Given the description of an element on the screen output the (x, y) to click on. 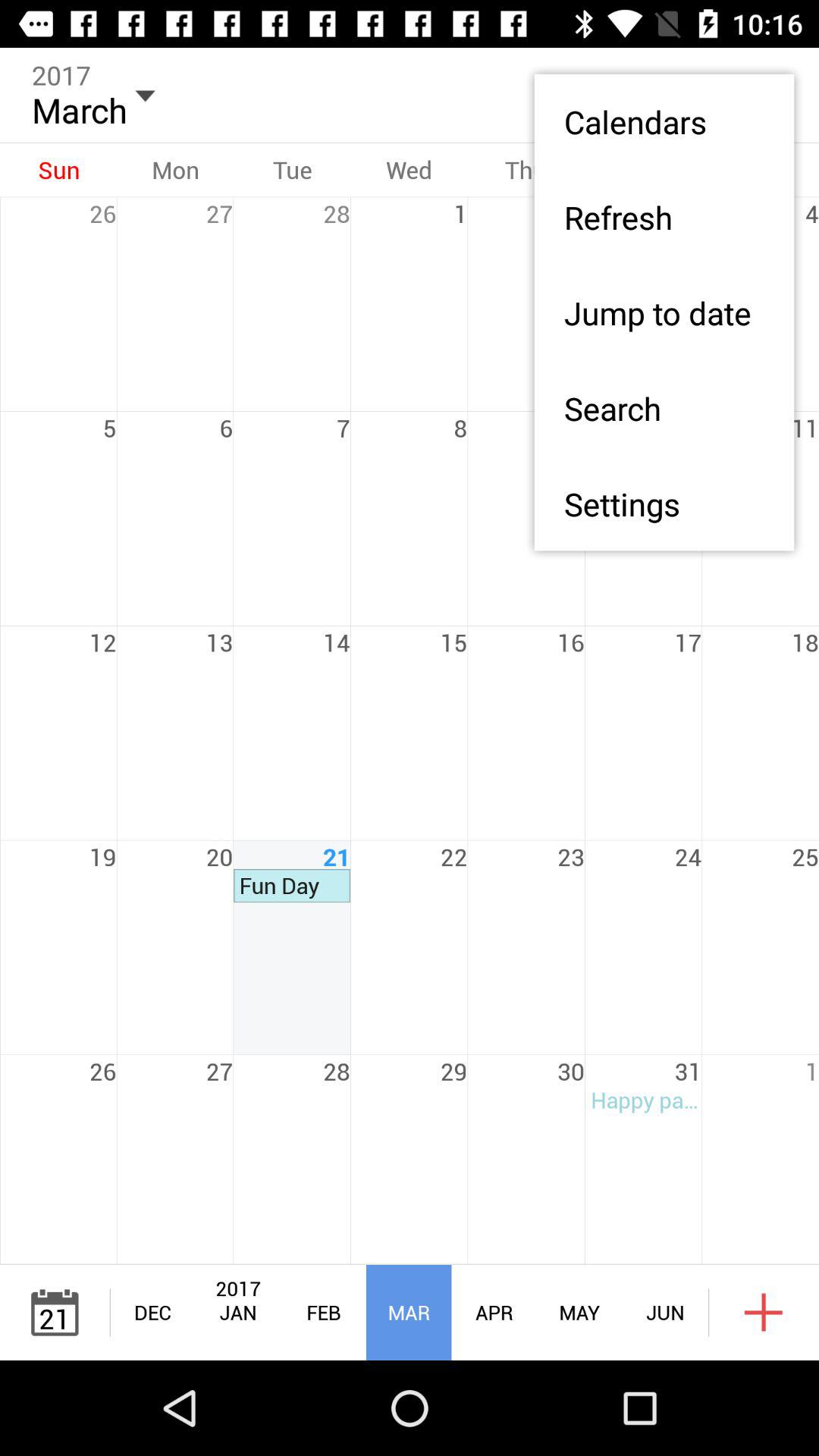
scroll to the refresh icon (664, 217)
